Given the description of an element on the screen output the (x, y) to click on. 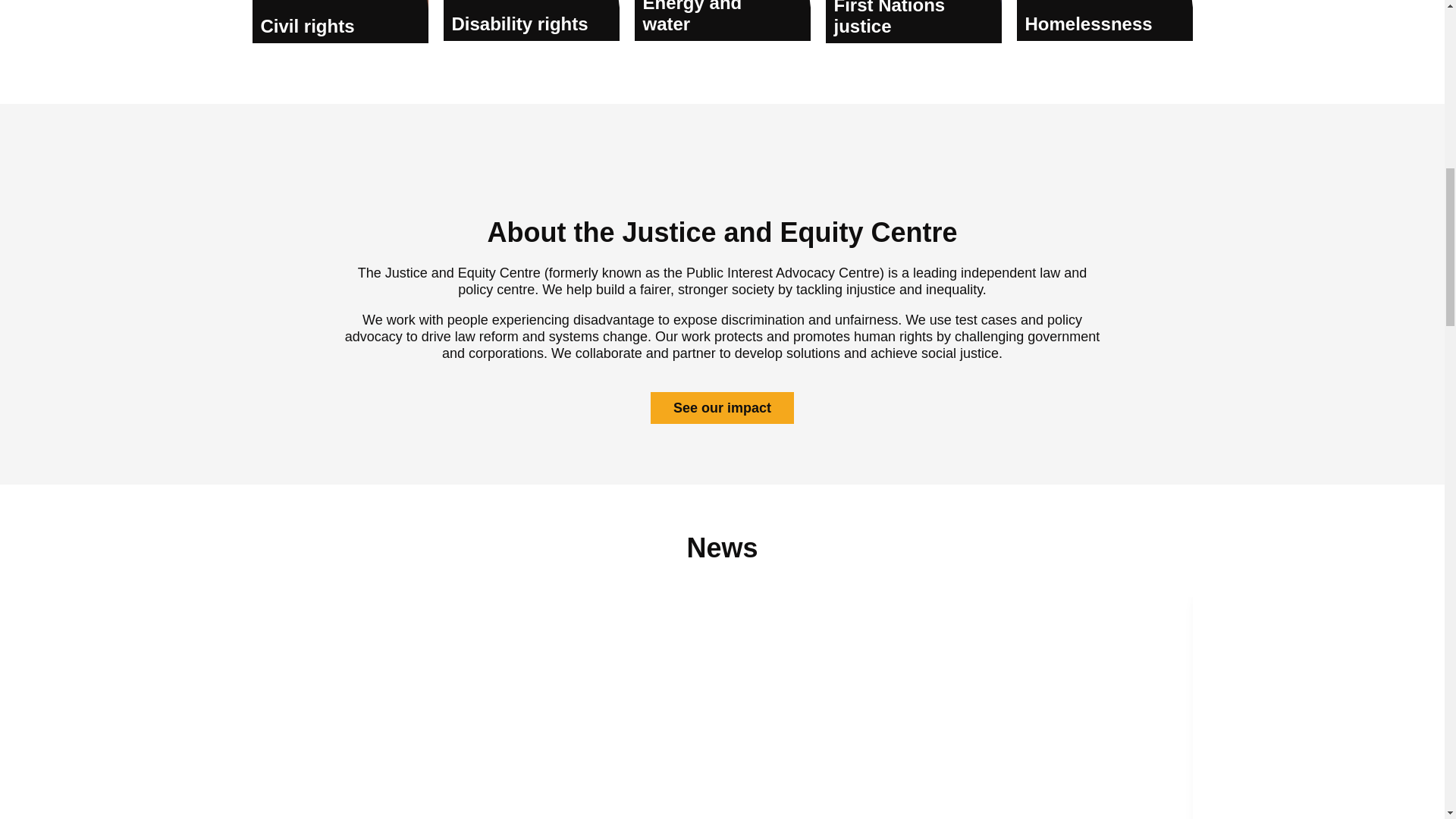
Home 7 (1104, 20)
Home 4 (530, 20)
Home 6 (913, 19)
Home 9 (722, 719)
Home 5 (721, 20)
Home 8 (721, 166)
Home 3 (339, 19)
